Given the description of an element on the screen output the (x, y) to click on. 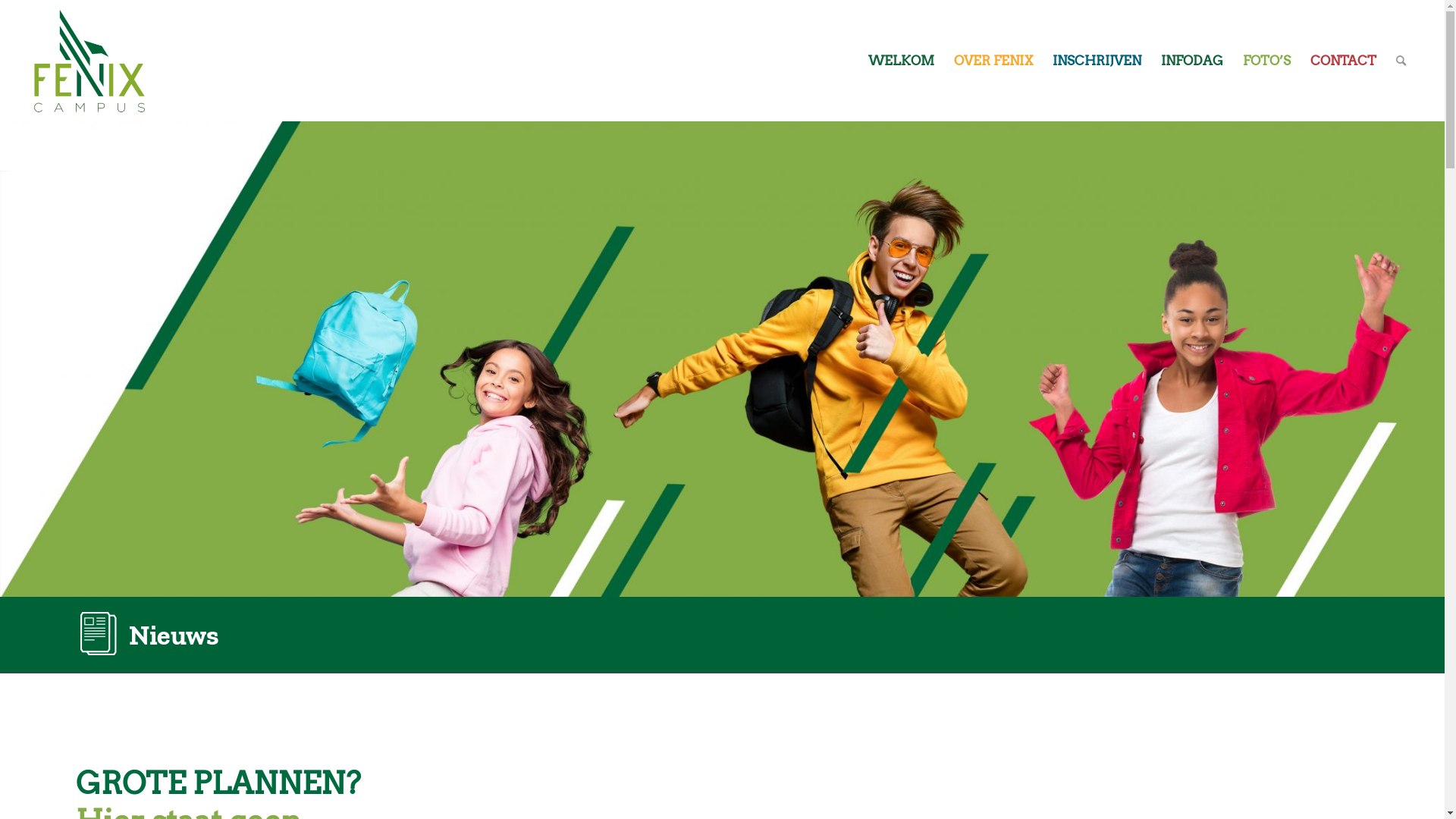
INFODAG Element type: text (1192, 60)
WELKOM Element type: text (901, 60)
INSCHRIJVEN Element type: text (1096, 60)
CONTACT Element type: text (1343, 60)
OVER FENIX Element type: text (993, 60)
